Given the description of an element on the screen output the (x, y) to click on. 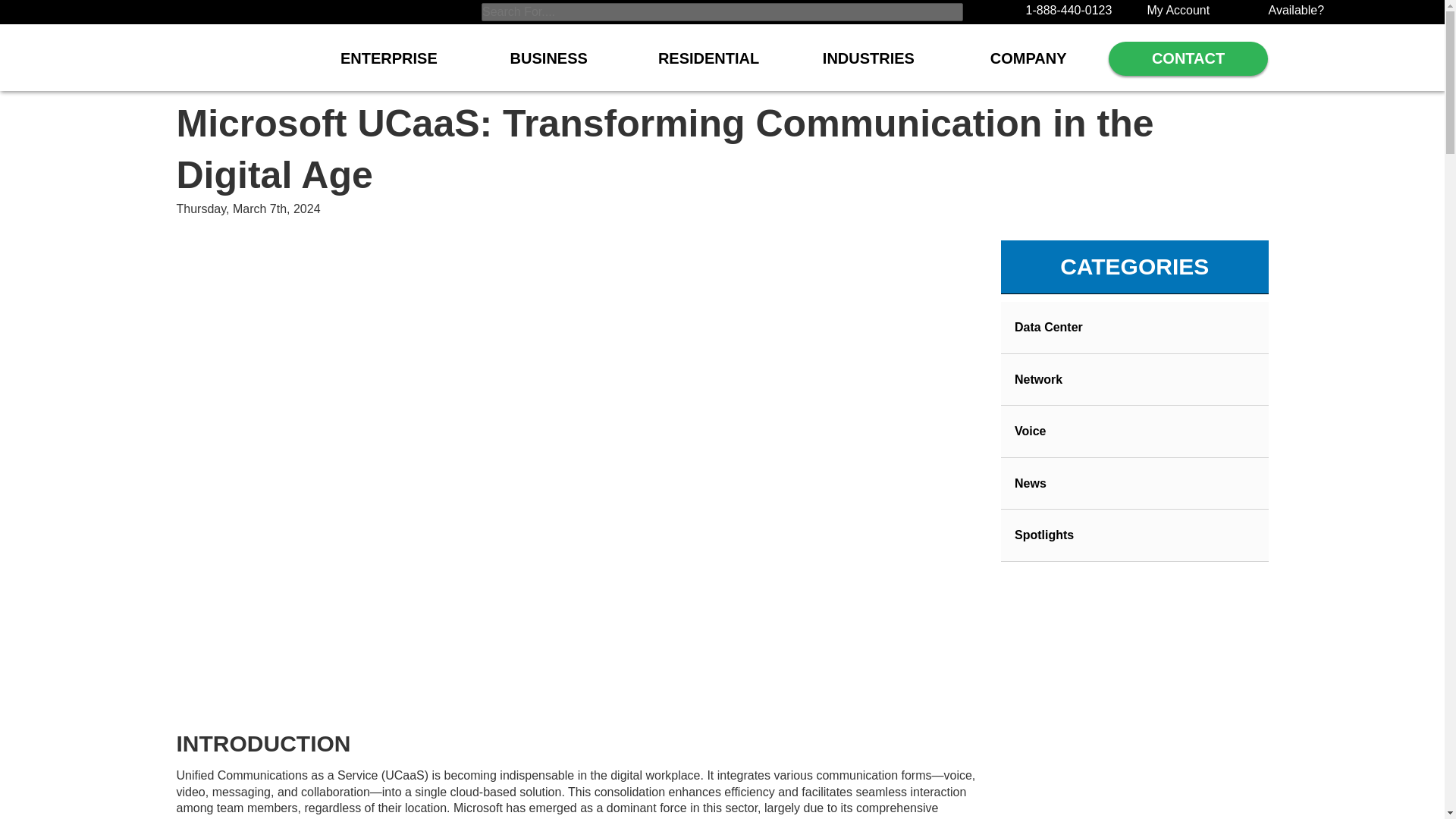
My Account (1178, 10)
INDUSTRIES (869, 65)
ENTERPRISE (388, 65)
BUSINESS (548, 65)
1-888-440-0123 (1068, 10)
Available? (1295, 10)
RESIDENTIAL (708, 65)
